Given the description of an element on the screen output the (x, y) to click on. 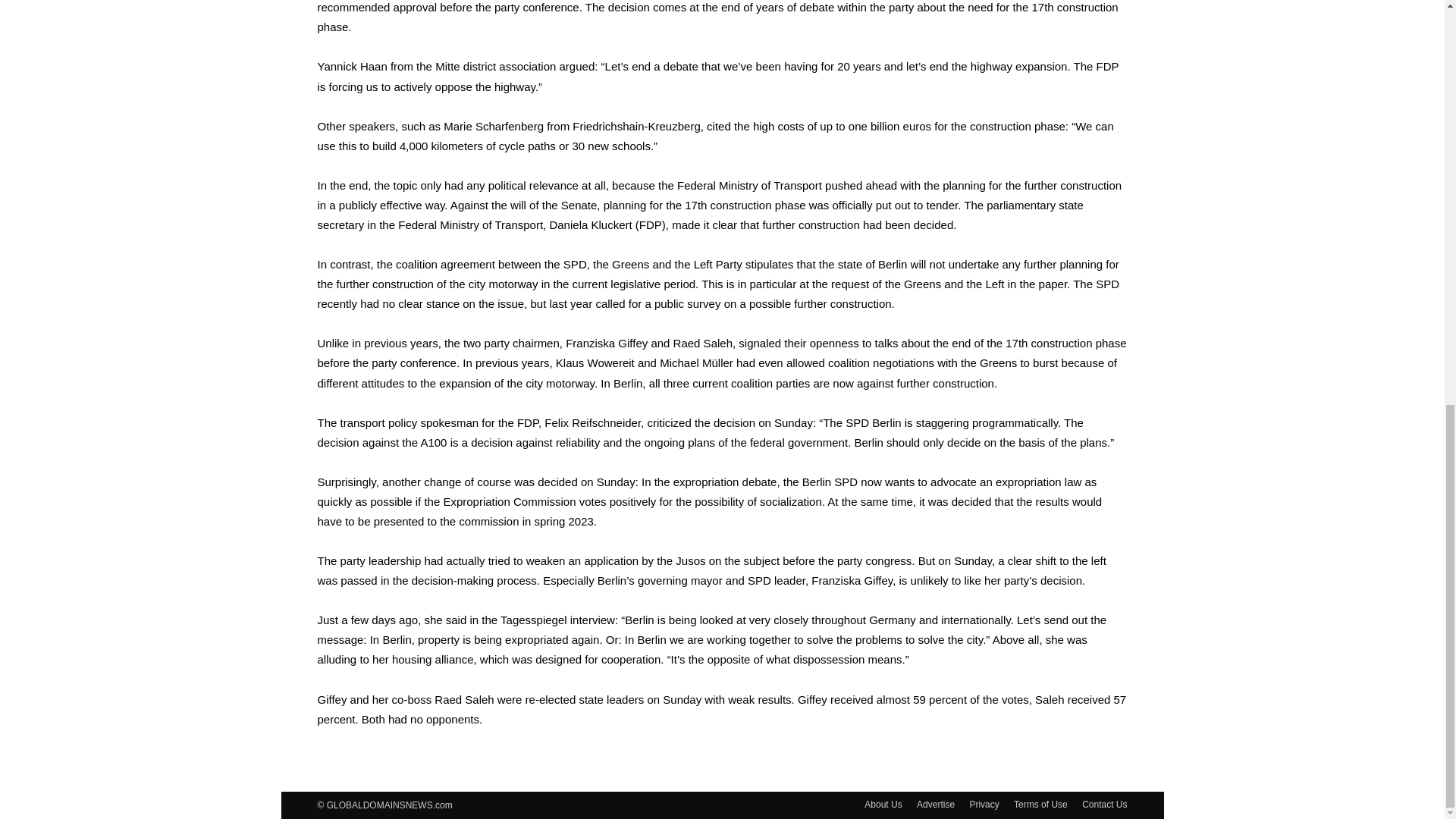
Contact Us (1103, 804)
Privacy (983, 804)
Advertise (936, 804)
Terms of Use (1040, 804)
About Us (882, 804)
